Given the description of an element on the screen output the (x, y) to click on. 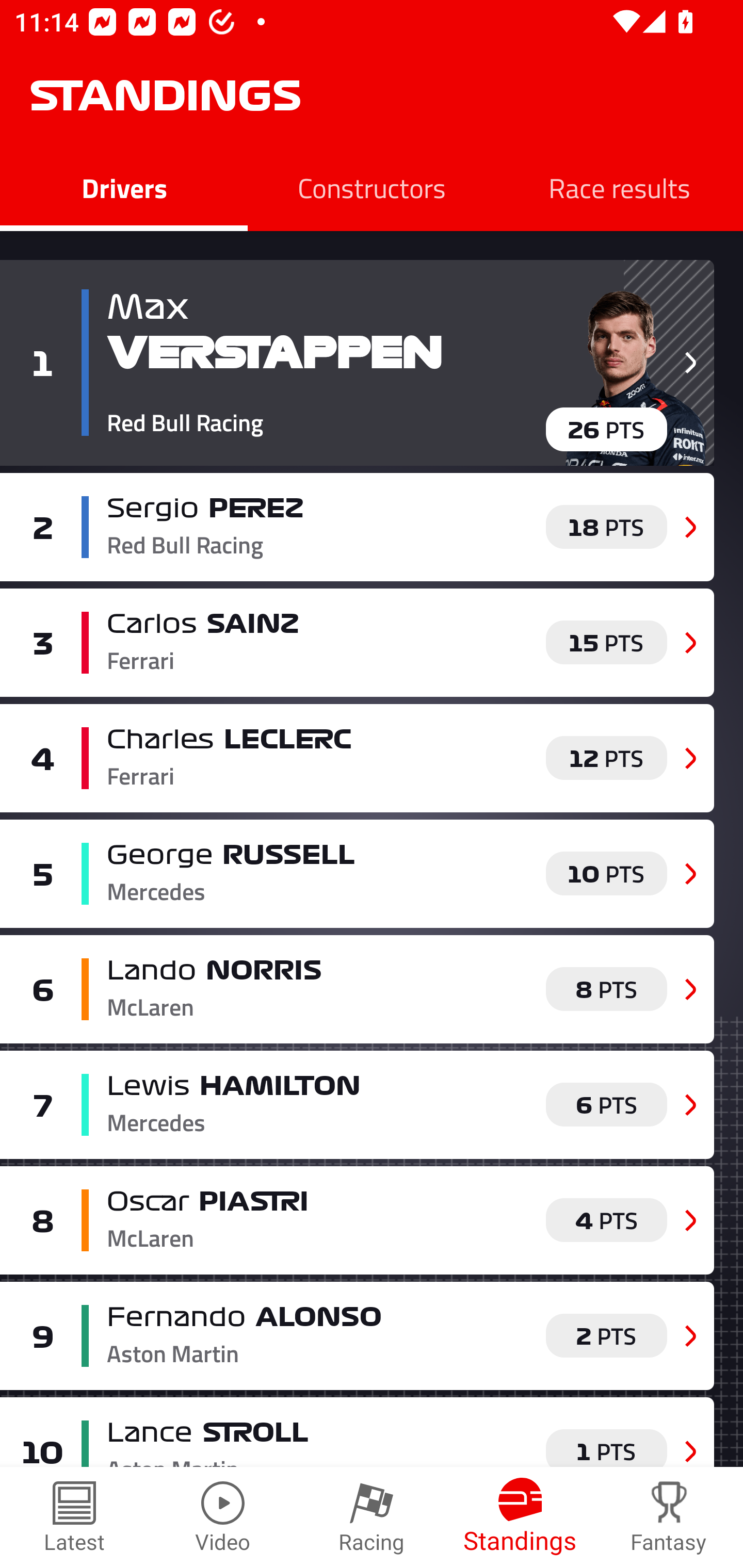
Constructors (371, 187)
Race results (619, 187)
1 Max VERSTAPPEN Red Bull Racing 26 PTS (357, 362)
2 Sergio PEREZ Red Bull Racing 18 PTS (357, 527)
3 Carlos SAINZ Ferrari 15 PTS (357, 642)
4 Charles LECLERC Ferrari 12 PTS (357, 758)
5 George RUSSELL Mercedes 10 PTS (357, 874)
6 Lando NORRIS McLaren 8 PTS (357, 988)
7 Lewis HAMILTON Mercedes 6 PTS (357, 1104)
8 Oscar PIASTRI McLaren 4 PTS (357, 1220)
9 Fernando ALONSO Aston Martin 2 PTS (357, 1335)
10 Lance STROLL Aston Martin 1 PTS (357, 1432)
Latest (74, 1517)
Video (222, 1517)
Racing (371, 1517)
Fantasy (668, 1517)
